Given the description of an element on the screen output the (x, y) to click on. 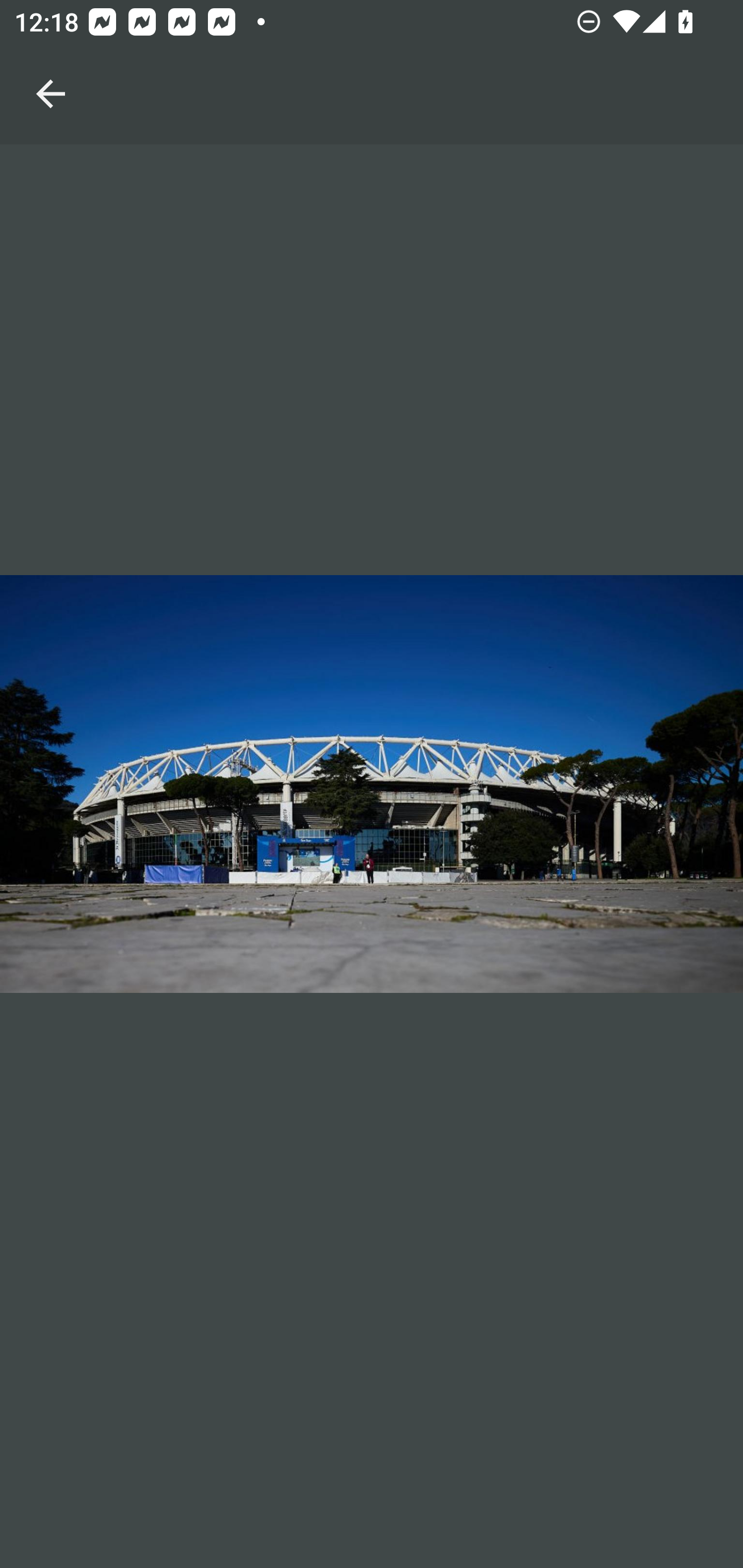
Back (50, 72)
